Given the description of an element on the screen output the (x, y) to click on. 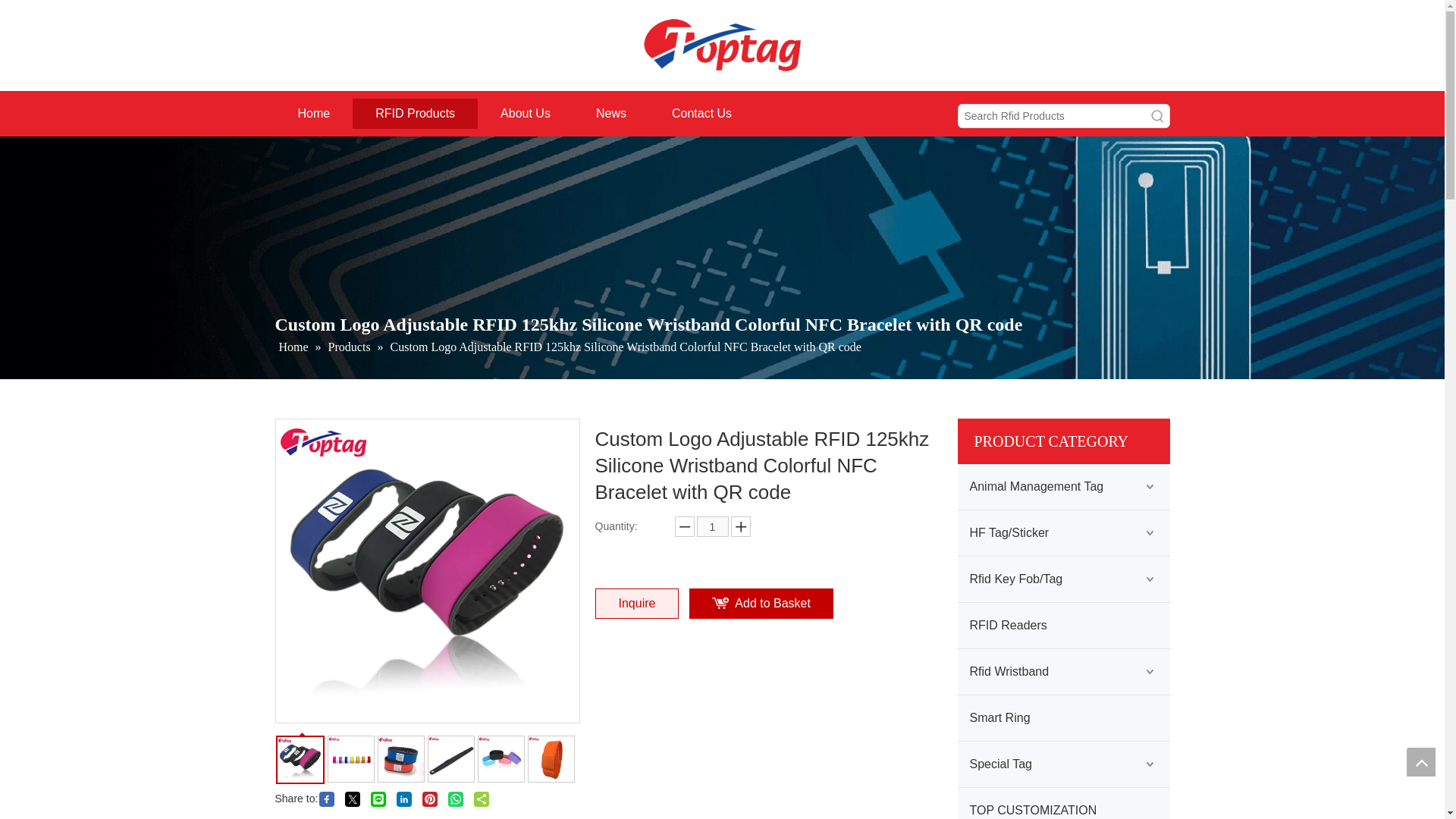
About Us (525, 113)
RFID Products (414, 113)
Animal Management Tag (1062, 486)
RFID Readers (1062, 625)
News (611, 113)
Home (313, 113)
1 (711, 526)
Contact Us (701, 113)
Products (351, 346)
toptag-min-min (721, 45)
